Given the description of an element on the screen output the (x, y) to click on. 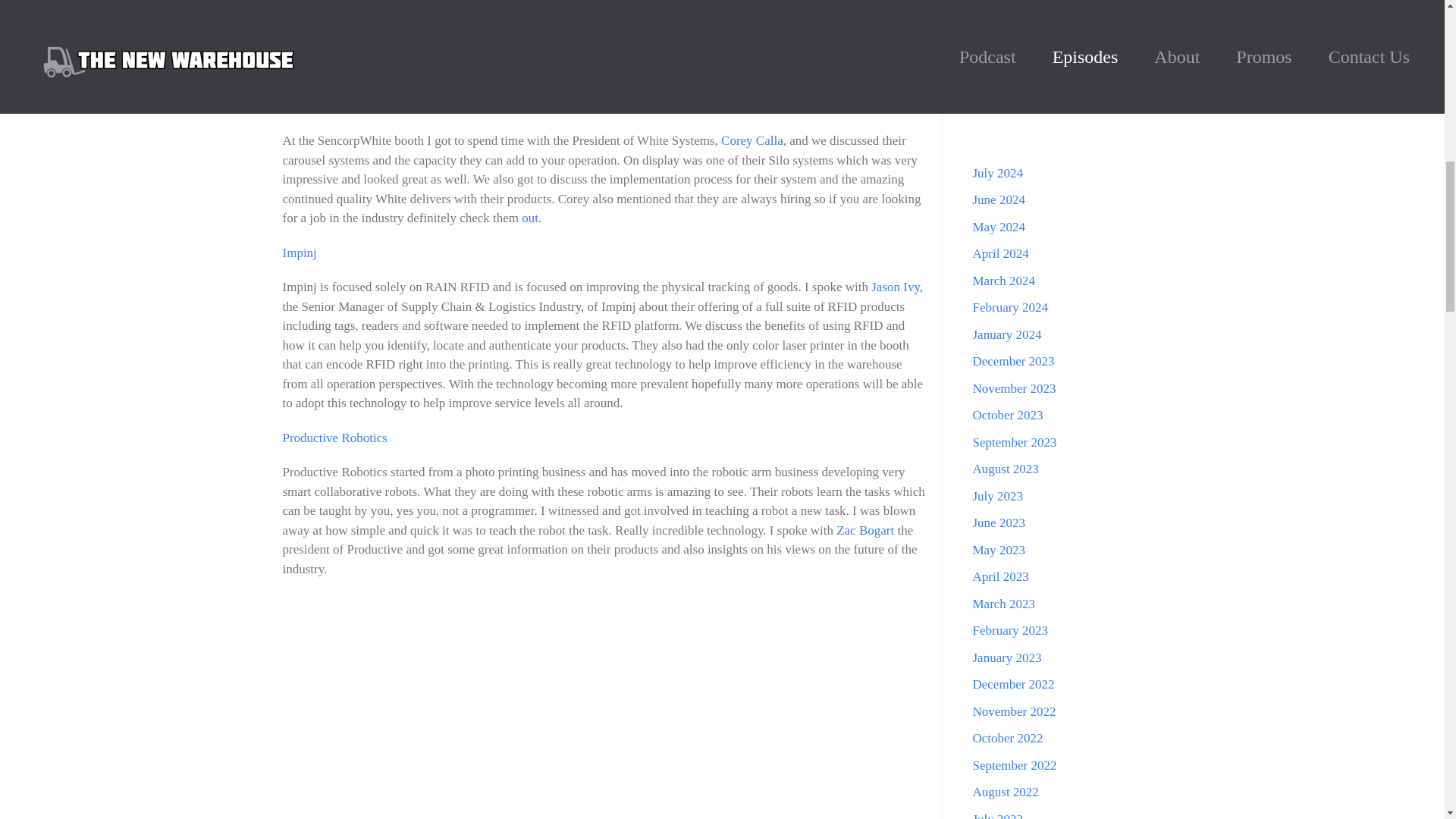
Impinj (298, 252)
Zac Bogart (864, 530)
Productive Robotics (334, 437)
SencorpWhite (318, 106)
Corey Calla (751, 140)
out (528, 217)
Jason Ivy (895, 287)
